Given the description of an element on the screen output the (x, y) to click on. 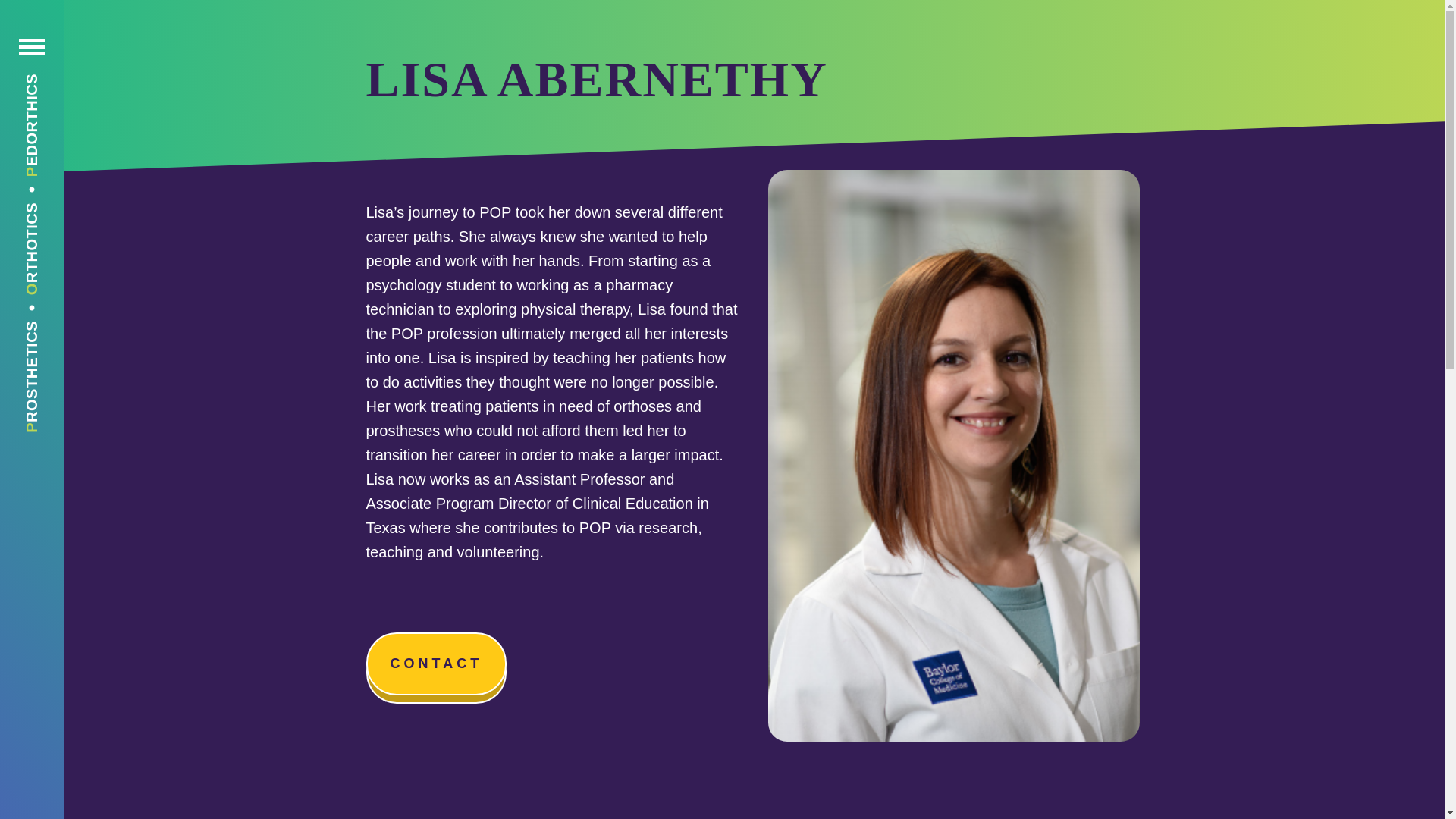
CONTACT (435, 663)
